Given the description of an element on the screen output the (x, y) to click on. 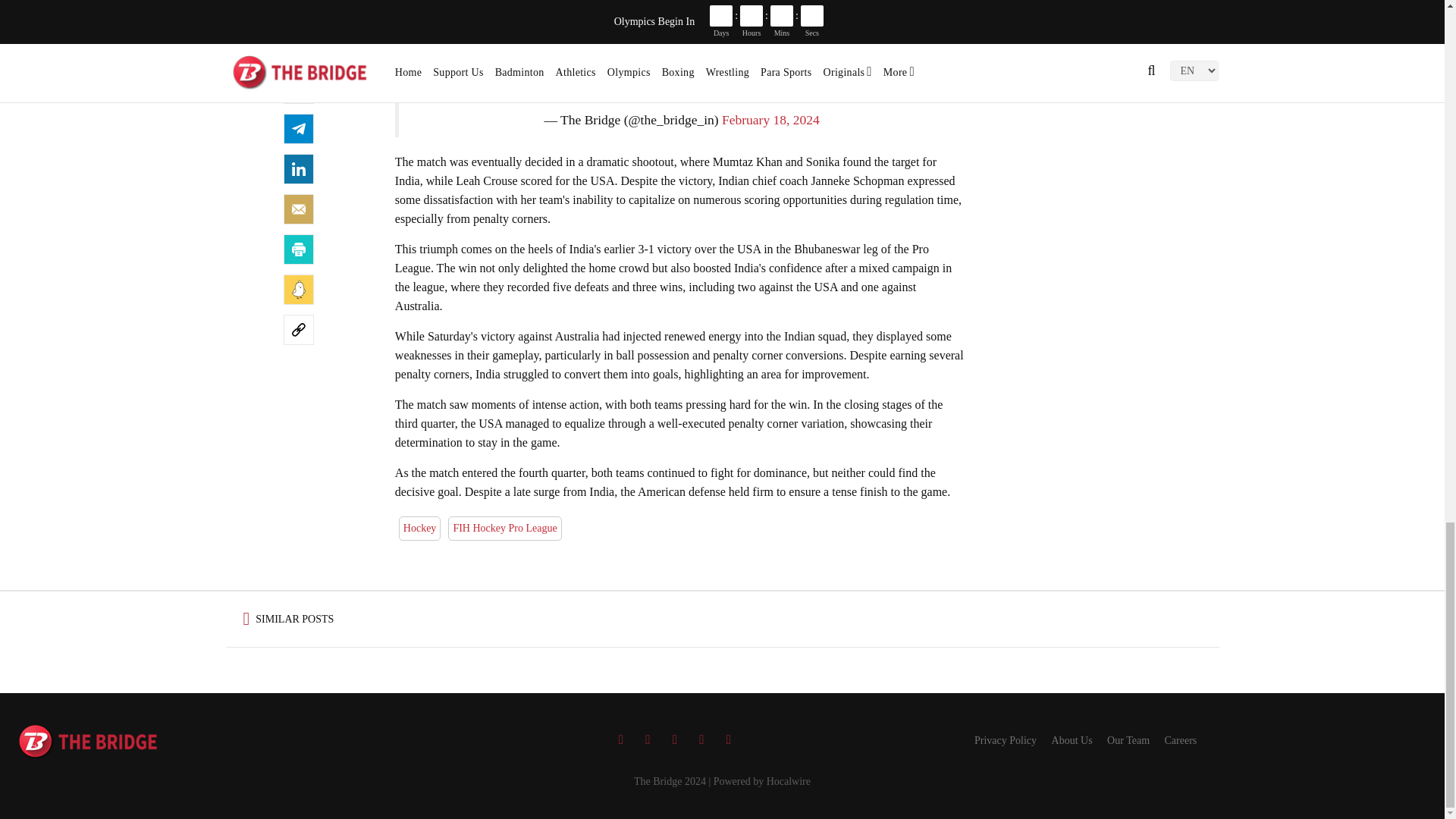
LinkedIn (298, 168)
Share by Email (298, 209)
